Given the description of an element on the screen output the (x, y) to click on. 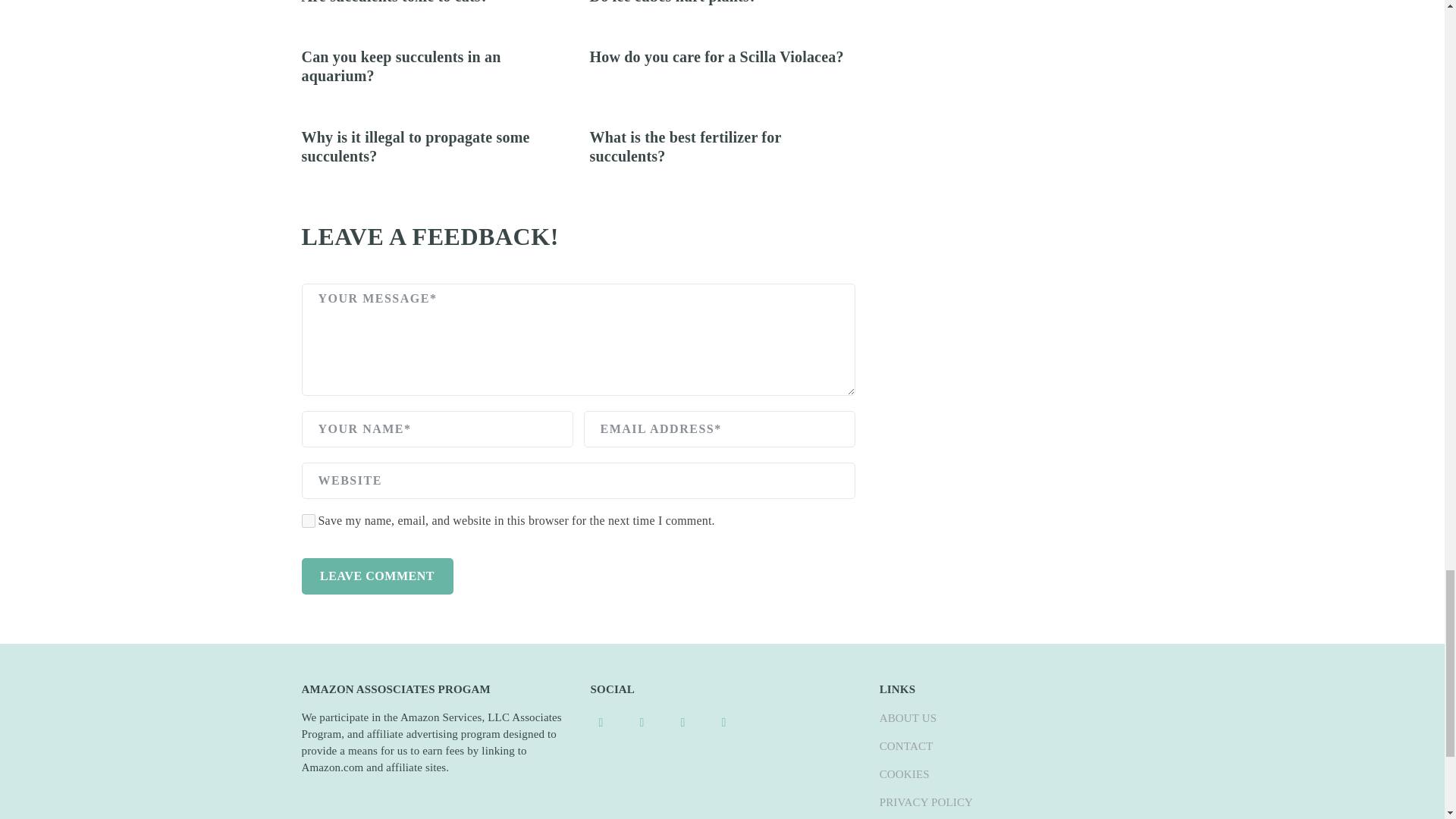
Leave Comment (376, 575)
What is the best fertilizer for succulents? (685, 146)
Are succulents toxic to cats? (395, 2)
yes (308, 520)
Leave Comment (376, 575)
Facebook (601, 721)
CONTACT (906, 746)
Instagram (683, 721)
Can you keep succulents in an aquarium? (400, 66)
Why is it illegal to propagate some succulents? (415, 146)
COOKIES (904, 774)
Do ice cubes hurt plants? (673, 2)
How do you care for a Scilla Violacea? (716, 56)
Do ice cubes hurt plants? (673, 2)
Pinterest (641, 721)
